Given the description of an element on the screen output the (x, y) to click on. 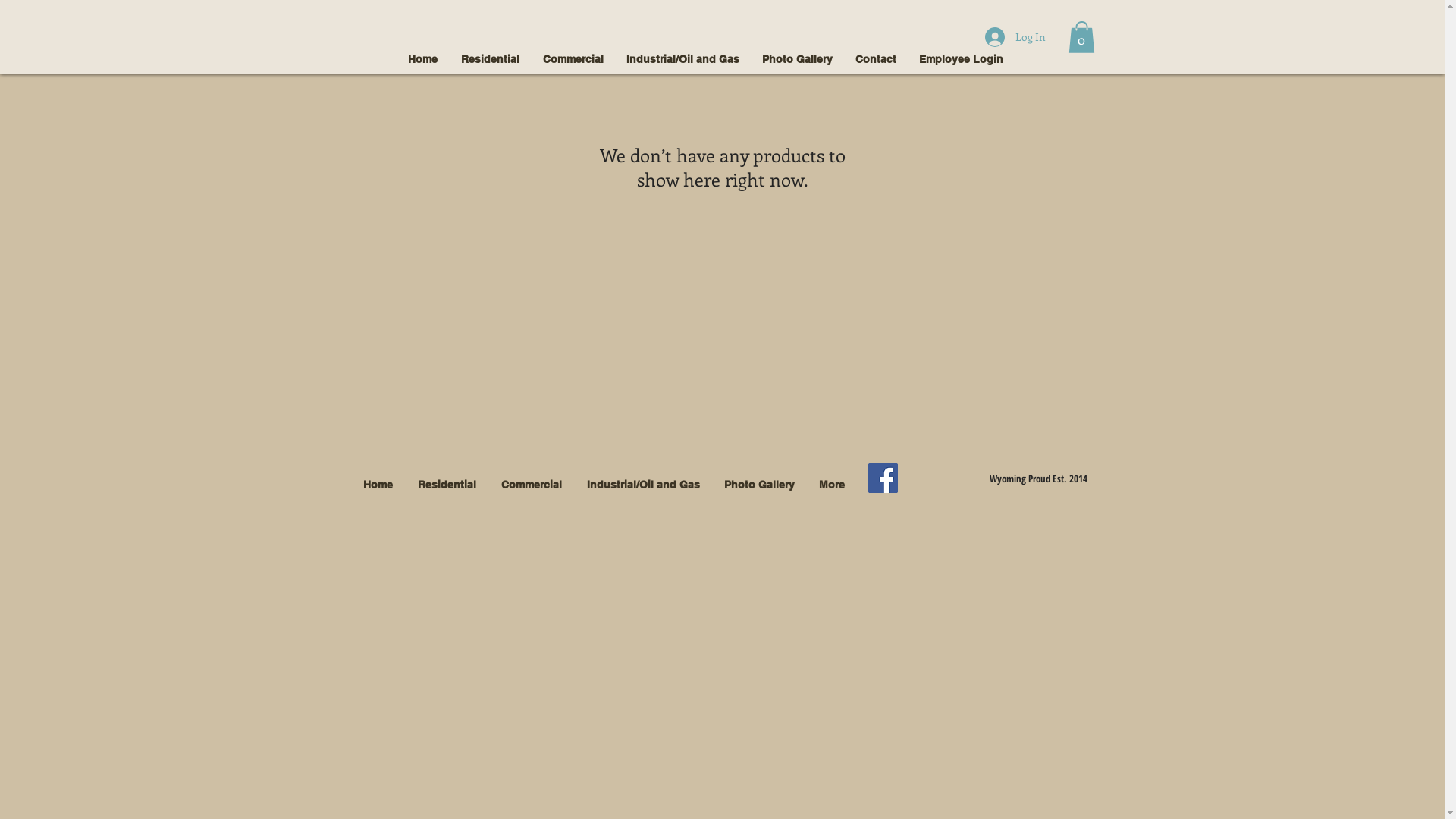
Facebook Like Element type: hover (939, 478)
Employee Login Element type: text (959, 58)
Commercial Element type: text (572, 58)
Home Element type: text (421, 58)
Industrial/Oil and Gas Element type: text (643, 484)
Residential Element type: text (446, 484)
Home Element type: text (377, 484)
Commercial Element type: text (531, 484)
Log In Element type: text (1014, 36)
0 Element type: text (1080, 37)
Residential Element type: text (489, 58)
Contact Element type: text (874, 58)
Industrial/Oil and Gas Element type: text (681, 58)
